Given the description of an element on the screen output the (x, y) to click on. 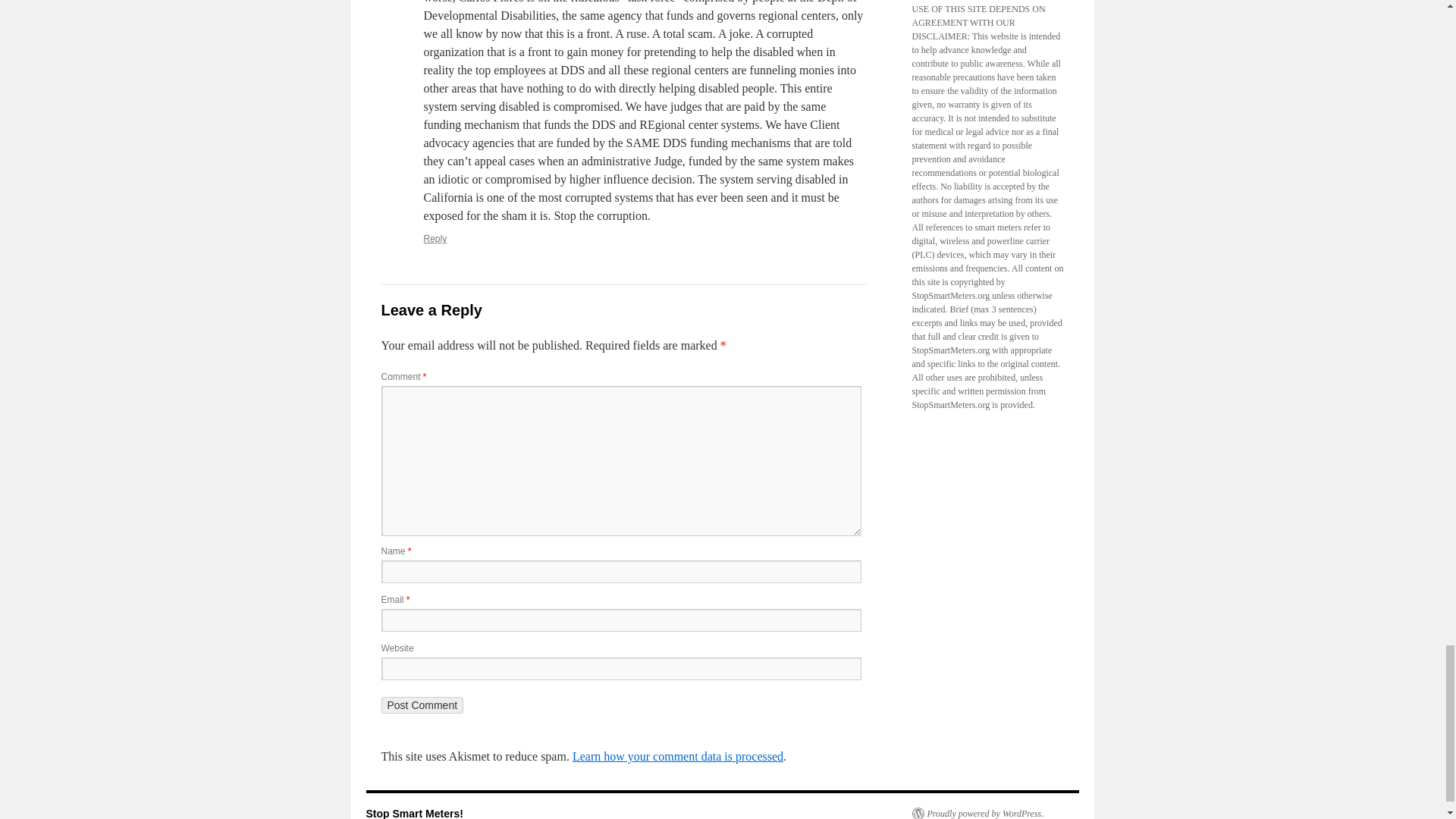
Post Comment (421, 704)
